Given the description of an element on the screen output the (x, y) to click on. 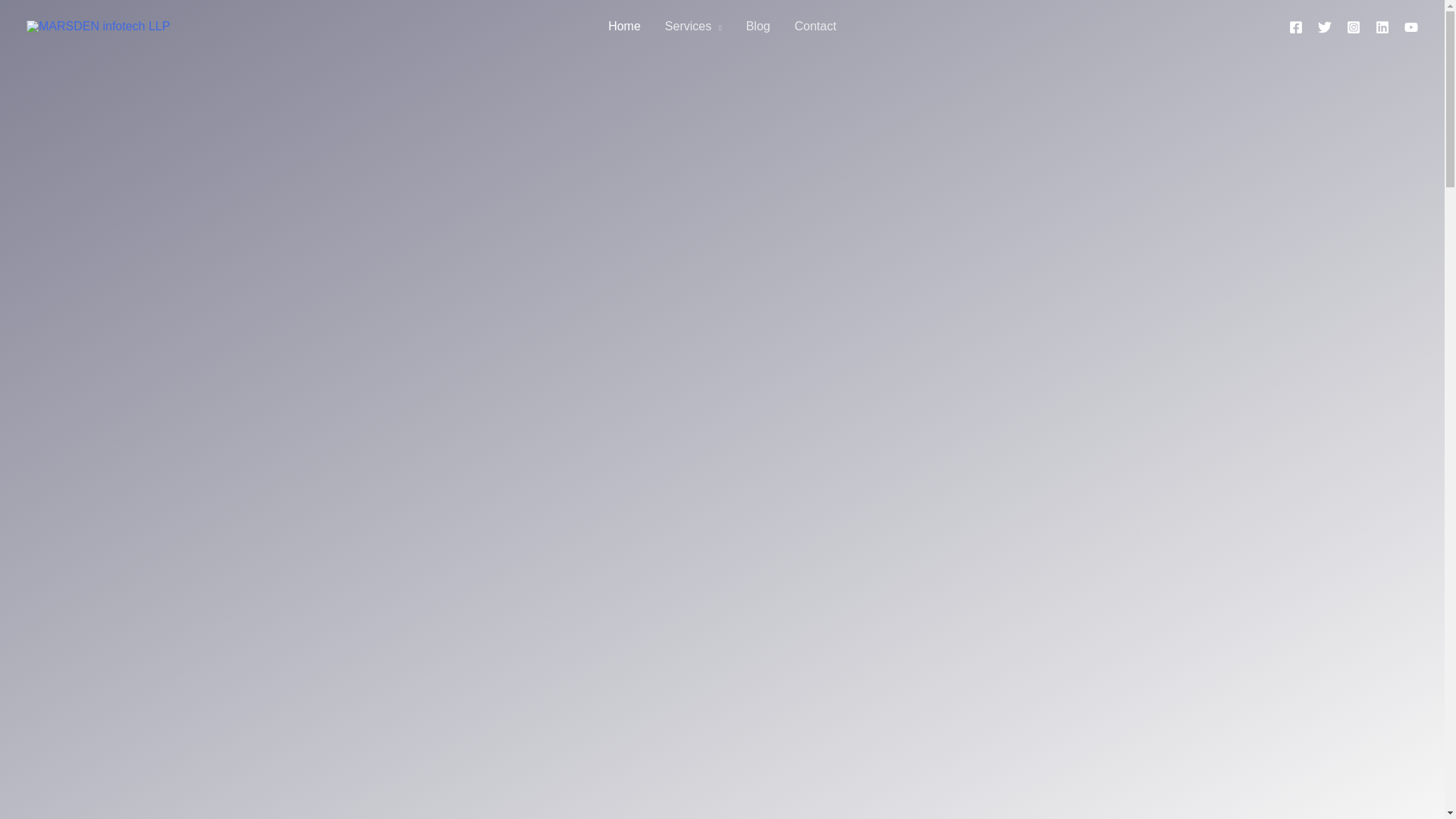
Contact (815, 26)
Blog (758, 26)
Home (623, 26)
Services (692, 26)
